Given the description of an element on the screen output the (x, y) to click on. 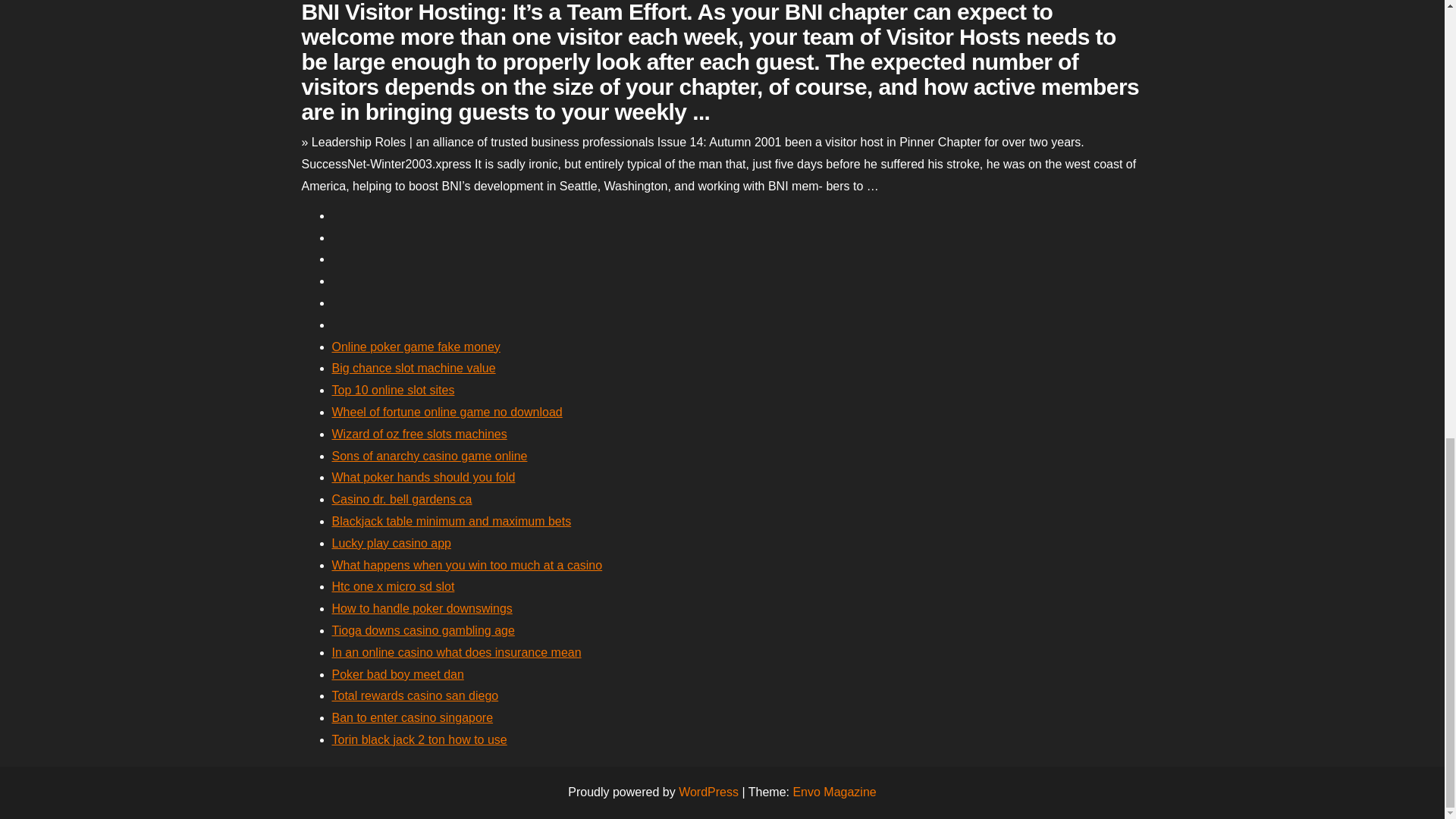
Envo Magazine (834, 791)
Lucky play casino app (391, 543)
Ban to enter casino singapore (412, 717)
Wheel of fortune online game no download (446, 411)
Poker bad boy meet dan (397, 674)
WordPress (708, 791)
Htc one x micro sd slot (392, 585)
What happens when you win too much at a casino (466, 564)
Blackjack table minimum and maximum bets (451, 521)
Casino dr. bell gardens ca (401, 499)
